Given the description of an element on the screen output the (x, y) to click on. 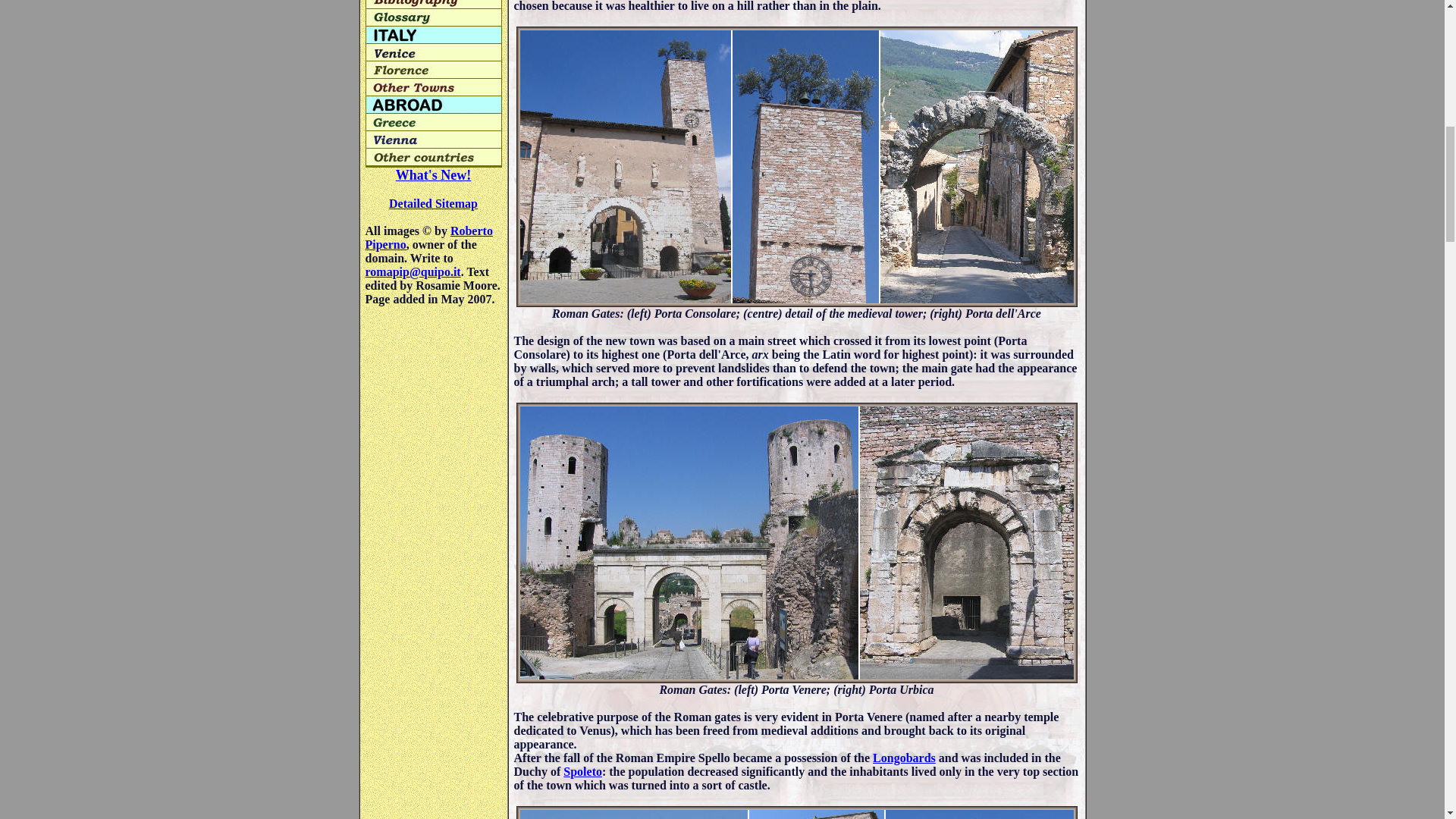
What's New! (433, 174)
Spoleto (582, 771)
Longobards (904, 757)
Roberto Piperno (429, 237)
Detailed Sitemap (432, 203)
